Given the description of an element on the screen output the (x, y) to click on. 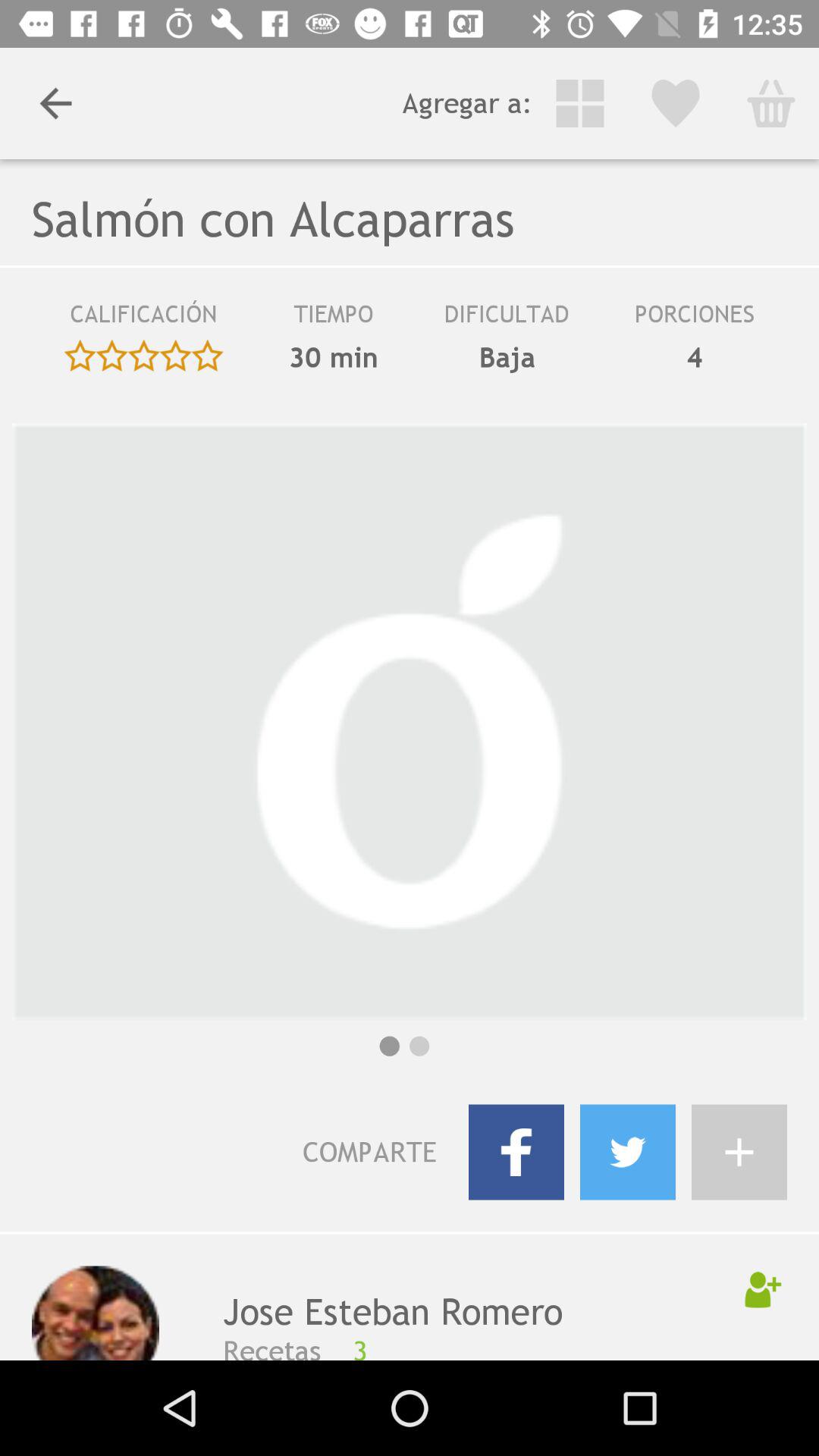
click the icon next to the jose esteban romero icon (95, 1313)
